Given the description of an element on the screen output the (x, y) to click on. 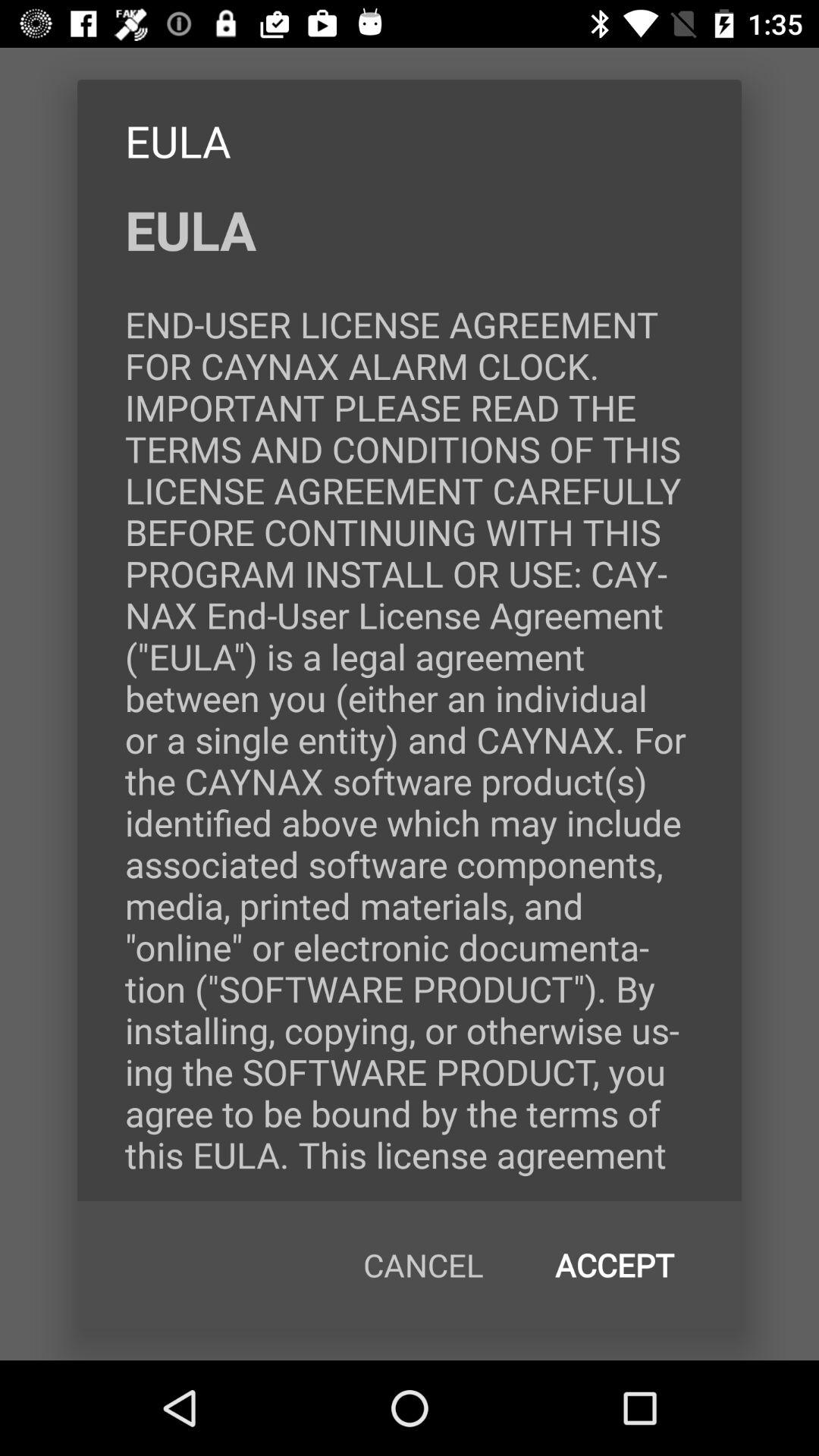
select button to the right of the cancel button (613, 1264)
